Given the description of an element on the screen output the (x, y) to click on. 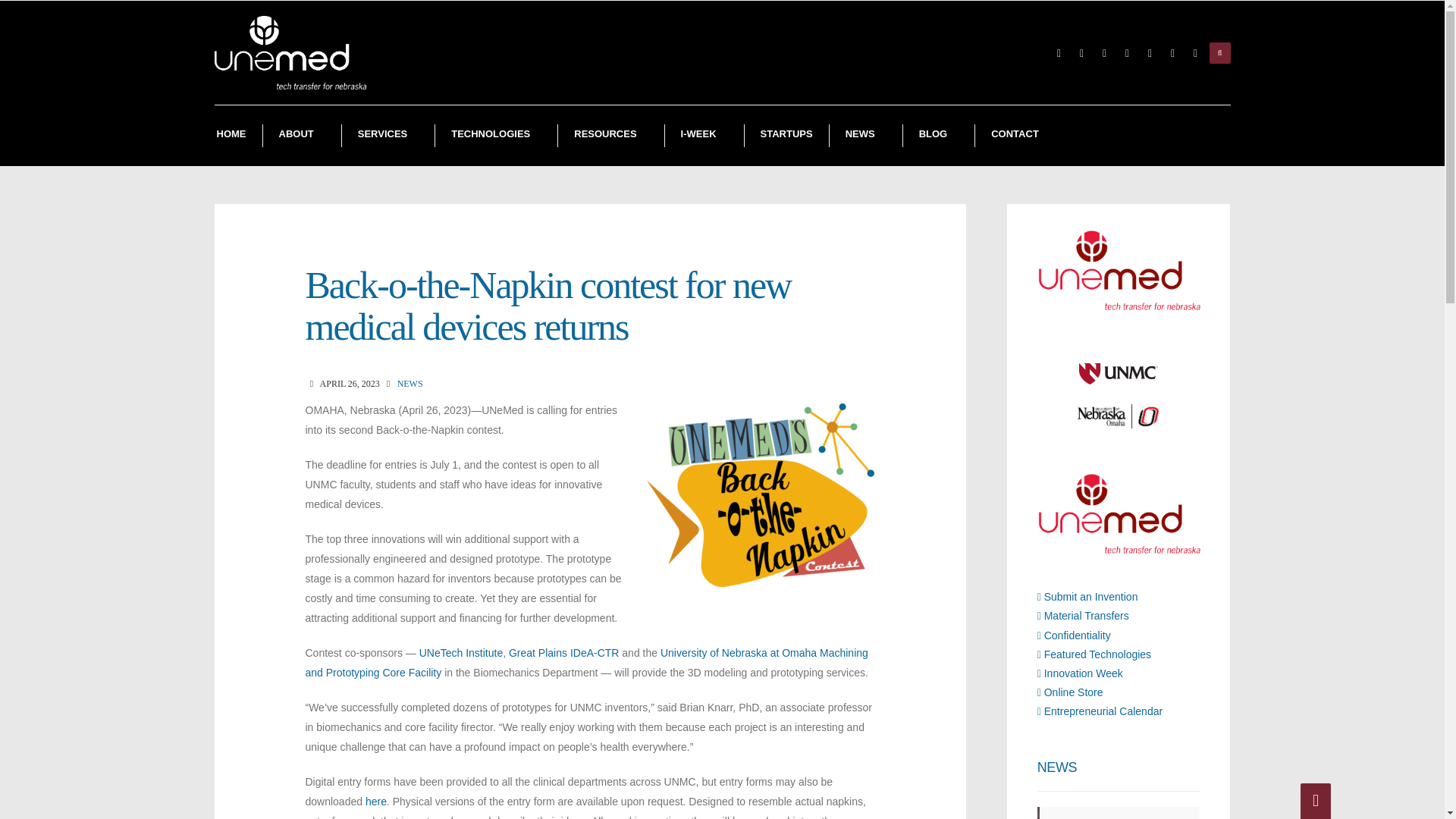
TECHNOLOGIES (495, 135)
HOME (230, 135)
ABOUT (301, 135)
Twitter (1104, 52)
You Tube (1171, 52)
Instagram (1149, 52)
Home (230, 135)
Facebook (1081, 52)
Flickr (1126, 52)
SERVICES (388, 135)
